Given the description of an element on the screen output the (x, y) to click on. 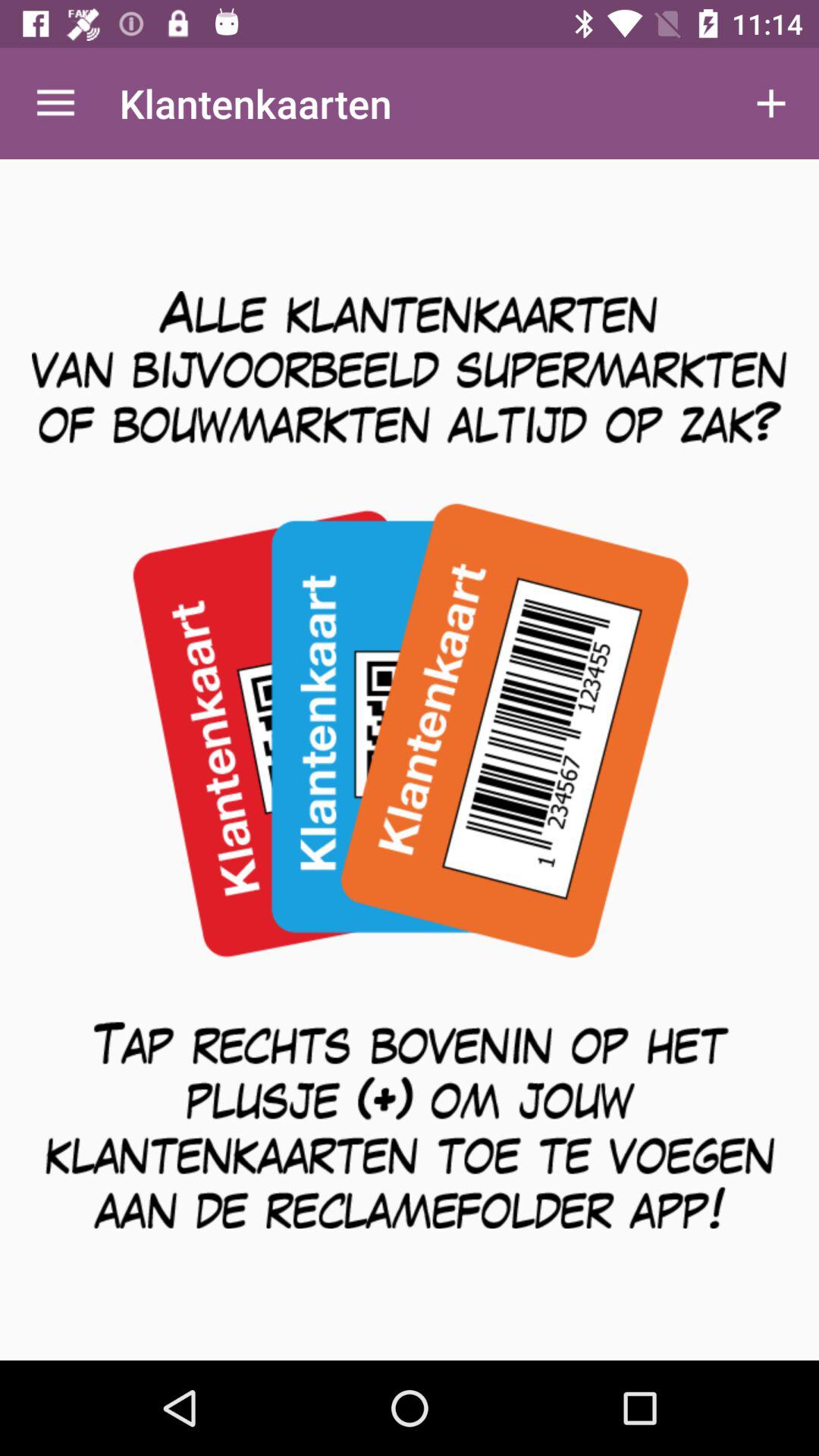
tap icon next to klantenkaarten icon (771, 103)
